Given the description of an element on the screen output the (x, y) to click on. 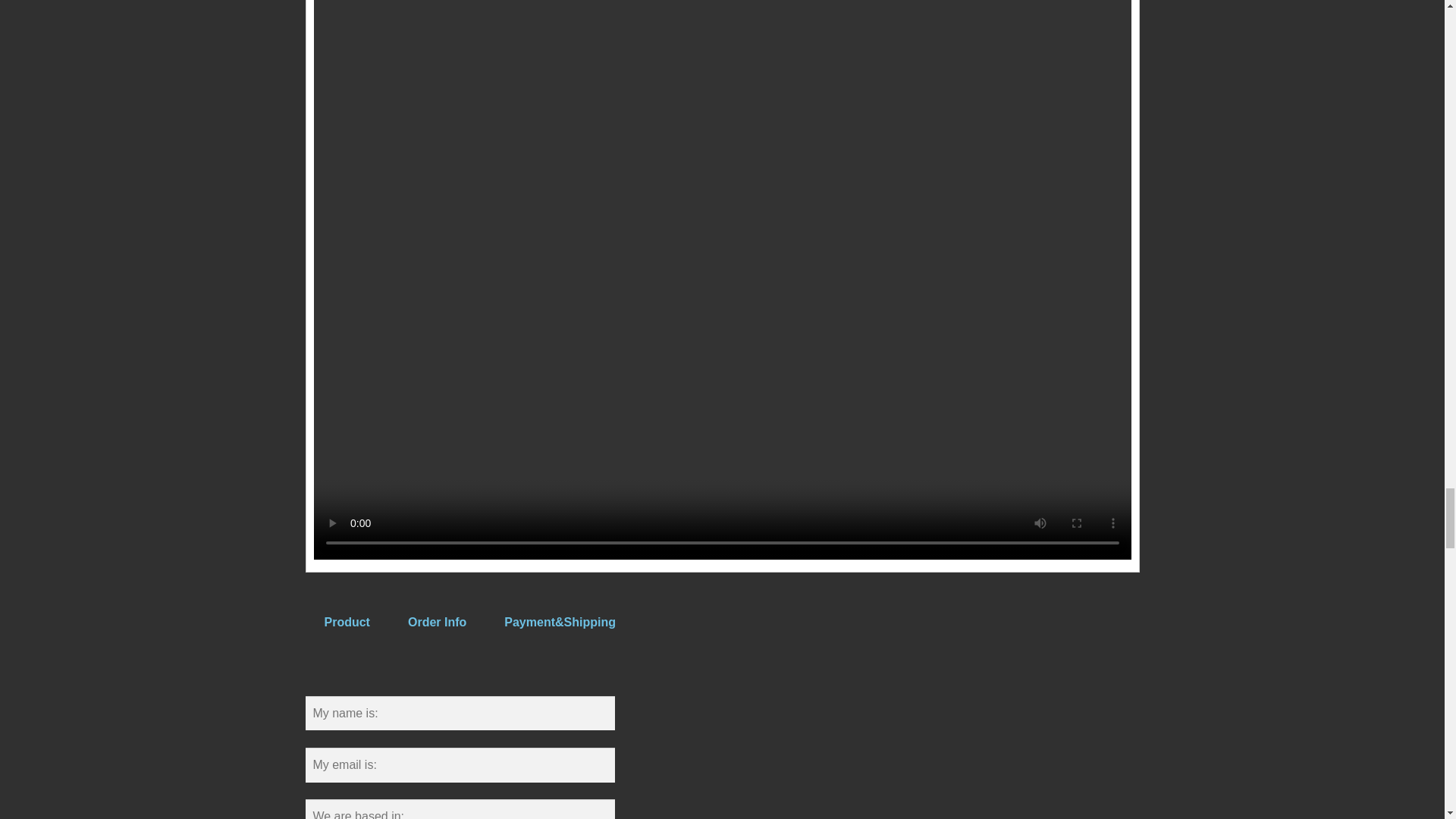
Product (346, 621)
Order Info (436, 621)
